Given the description of an element on the screen output the (x, y) to click on. 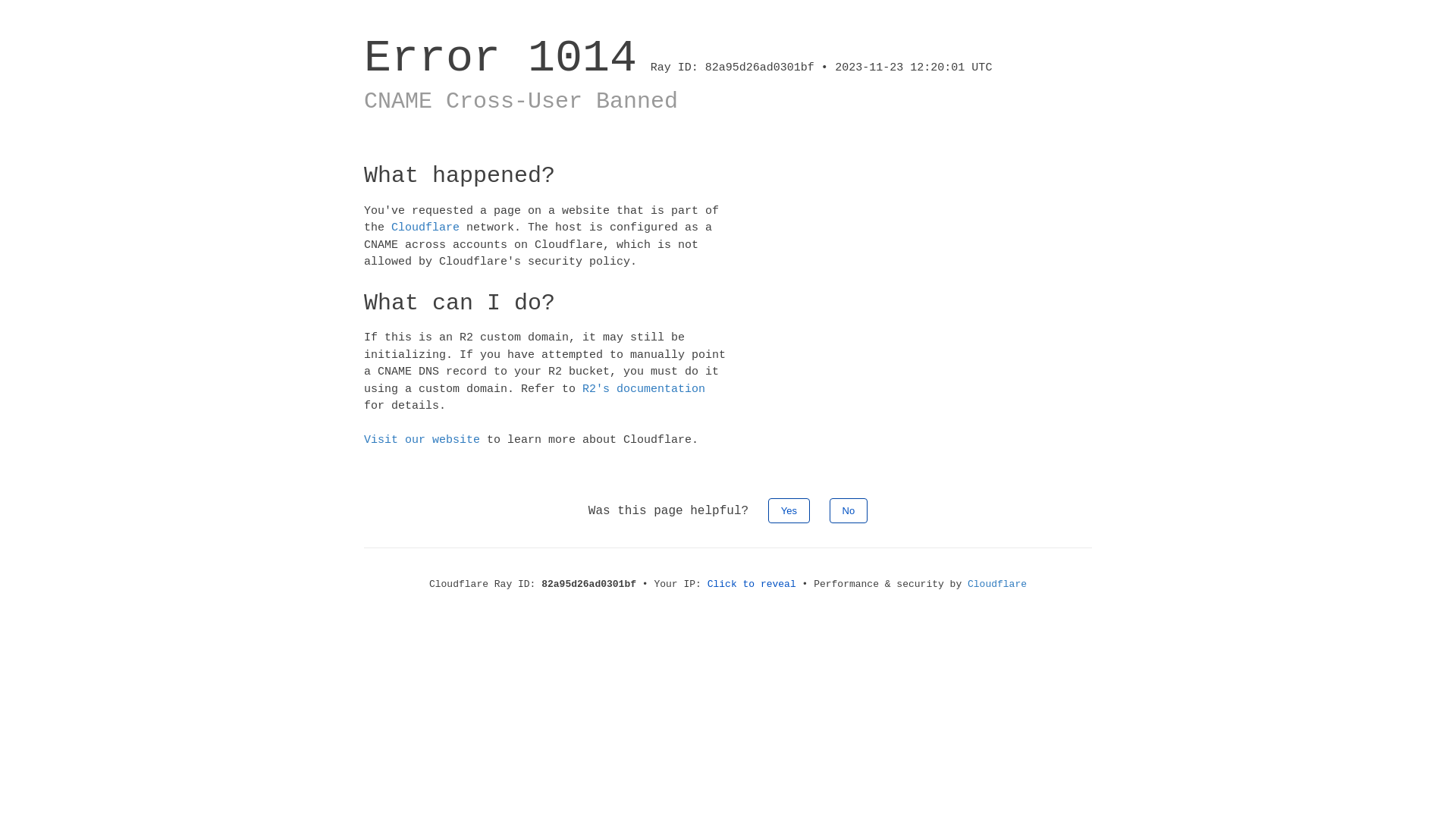
Yes Element type: text (788, 509)
R2's documentation Element type: text (643, 388)
Cloudflare Element type: text (996, 583)
Click to reveal Element type: text (751, 583)
Cloudflare Element type: text (425, 227)
Visit our website Element type: text (422, 439)
No Element type: text (848, 509)
